Given the description of an element on the screen output the (x, y) to click on. 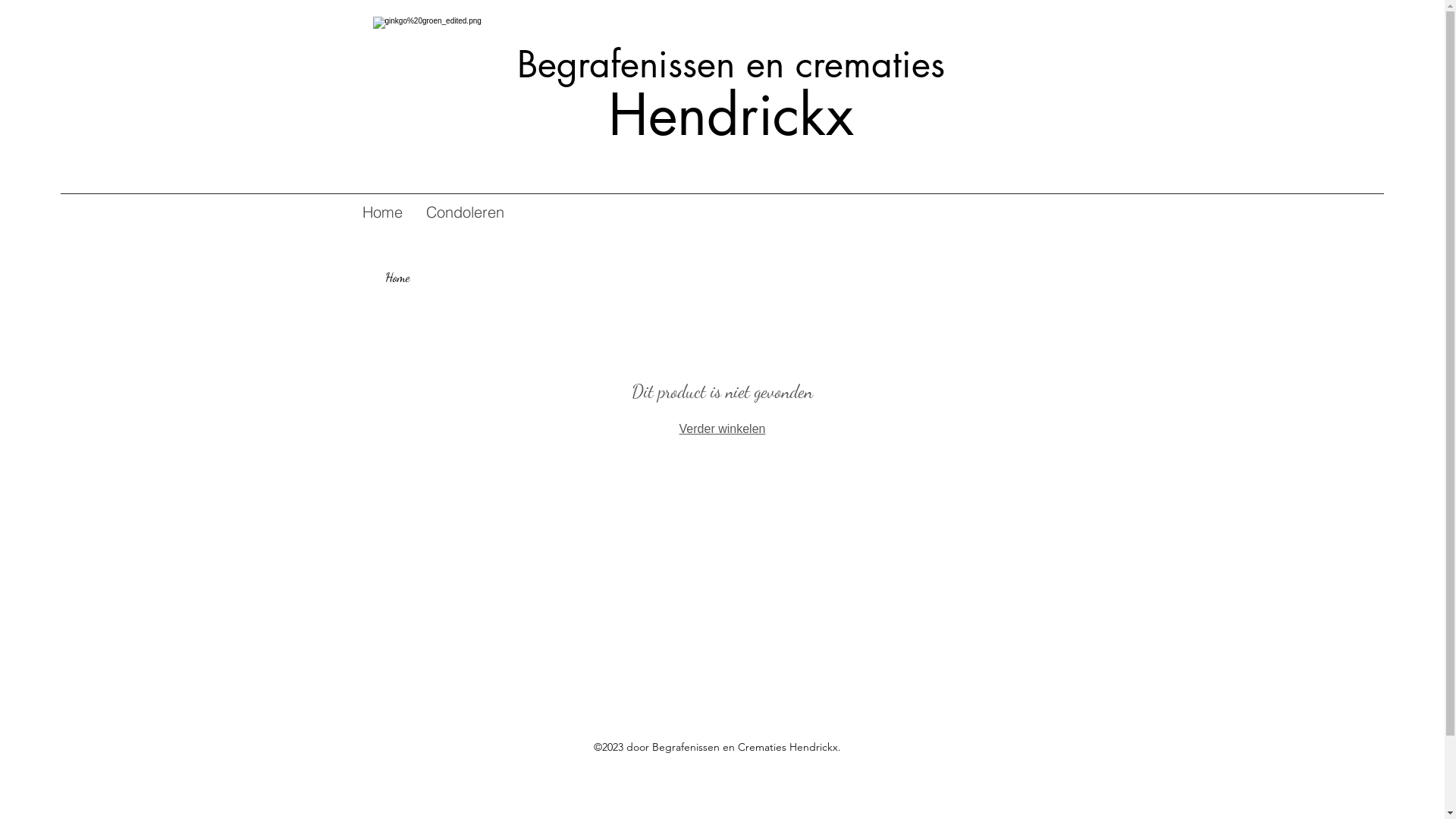
Condoleren Element type: text (464, 211)
Home Element type: text (397, 277)
Verder winkelen Element type: text (722, 428)
Home Element type: text (381, 211)
Begrafenissen en crematies Element type: text (730, 63)
Hendrickx Element type: text (776, 143)
